Given the description of an element on the screen output the (x, y) to click on. 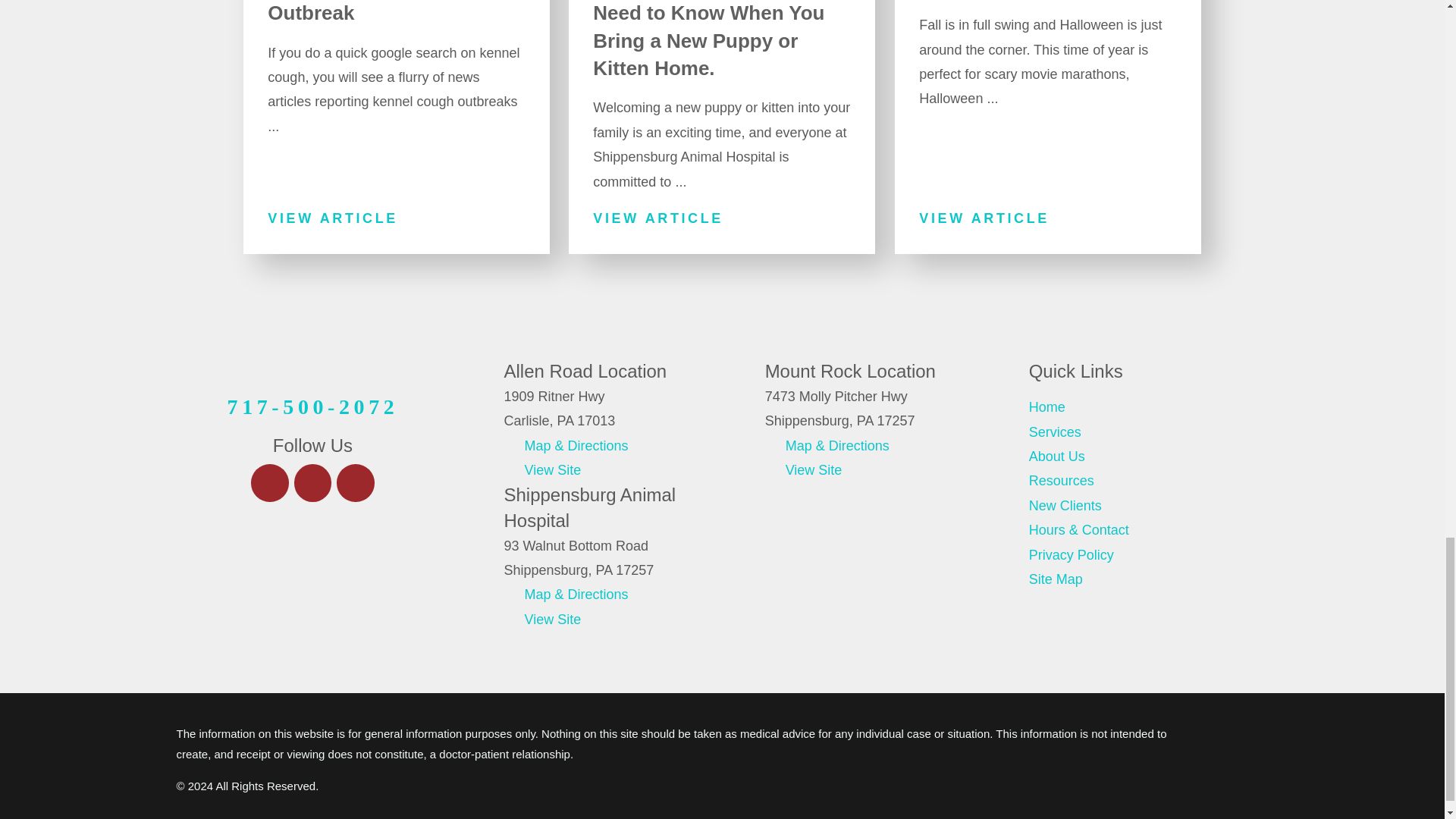
Google Business Profile (355, 483)
Yelp (312, 483)
Facebook (269, 483)
